Given the description of an element on the screen output the (x, y) to click on. 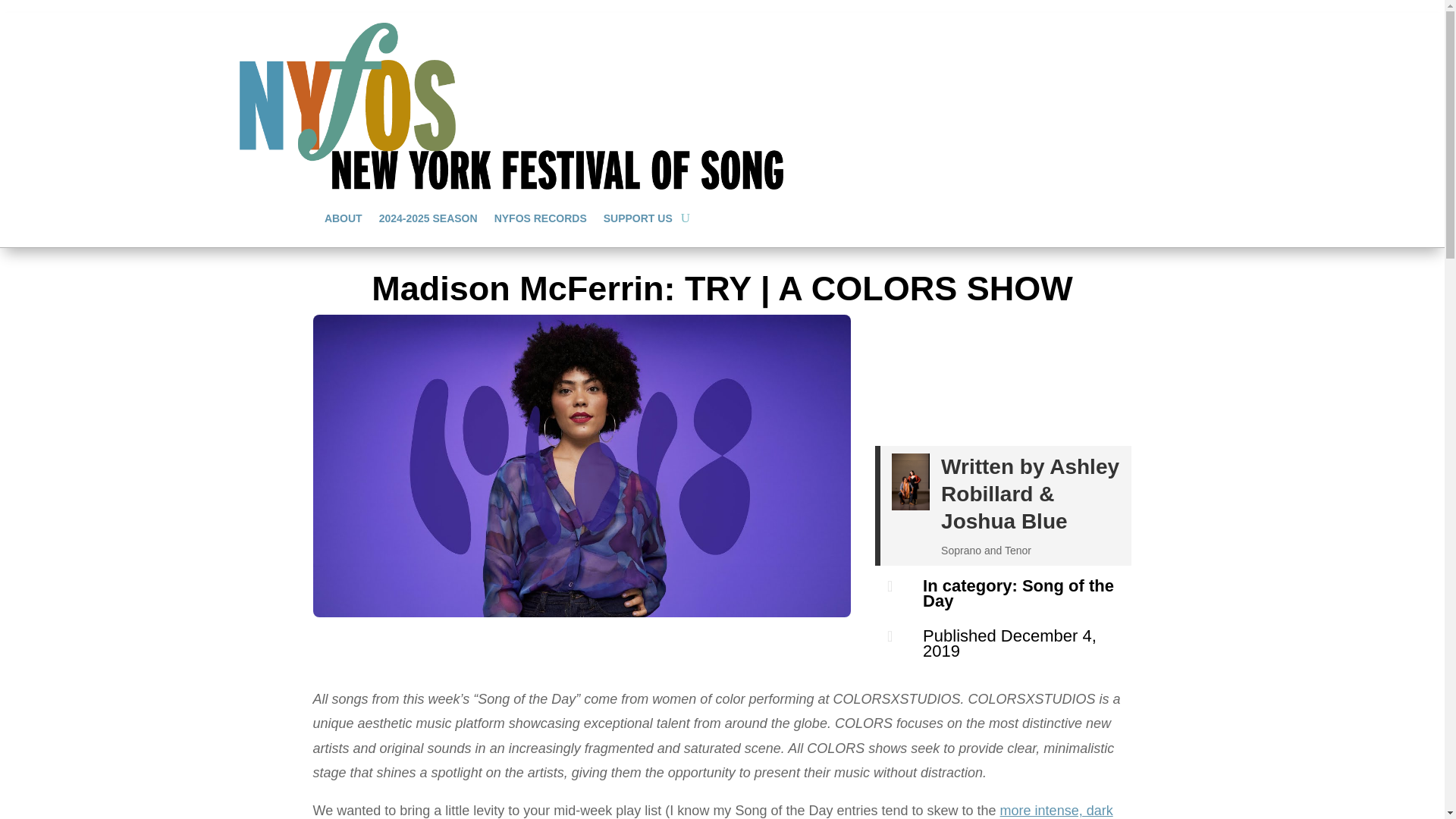
NYFOS RECORDS (540, 218)
2024-2025 SEASON (427, 218)
ABOUT (343, 218)
SUPPORT US (638, 218)
Song of the Day (1018, 593)
more intense, dark side (712, 811)
